Given the description of an element on the screen output the (x, y) to click on. 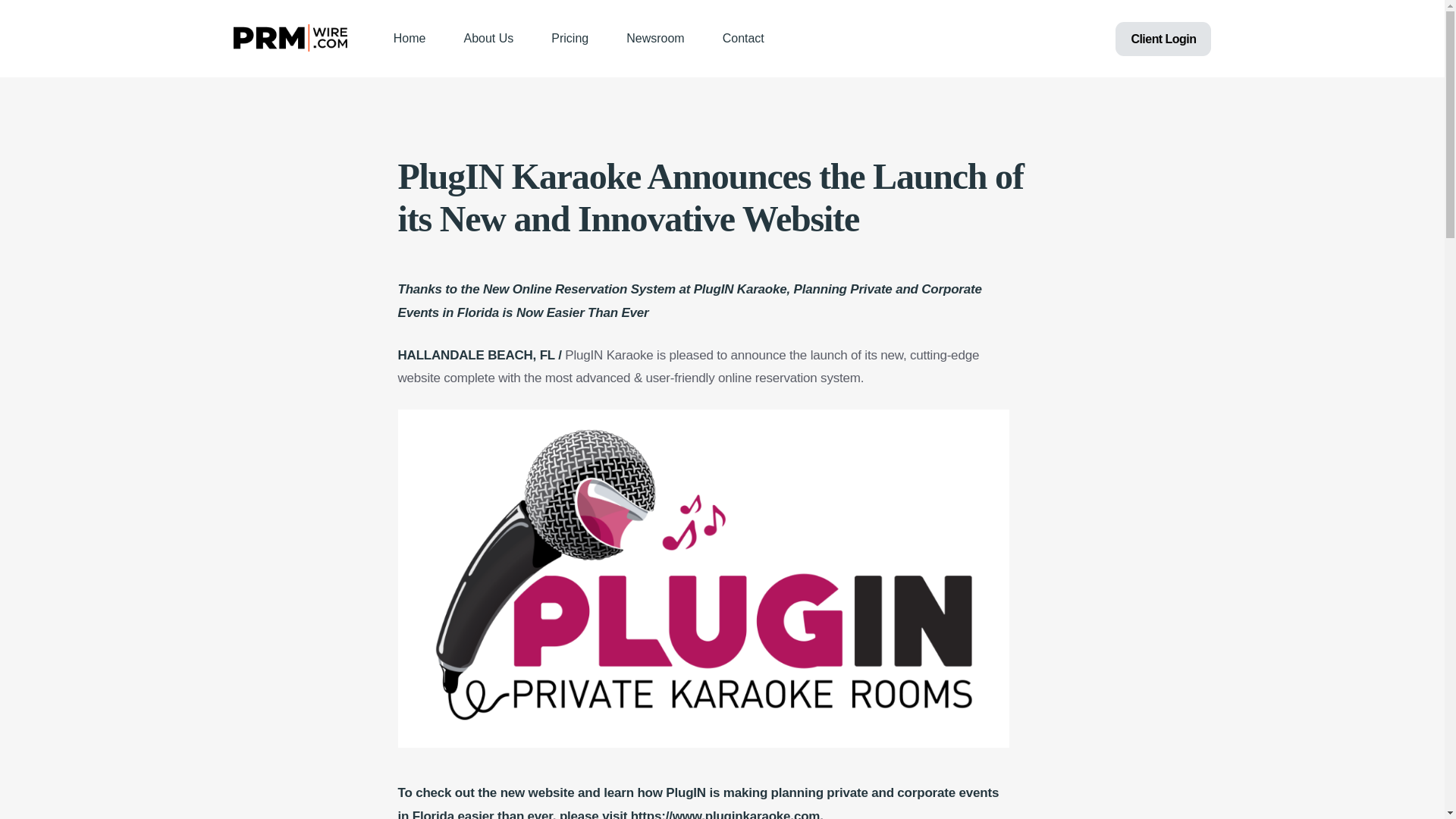
Pricing (569, 38)
About Us (488, 38)
Contact (743, 38)
Client Login (1163, 39)
Home (409, 38)
Newsroom (655, 38)
